Given the description of an element on the screen output the (x, y) to click on. 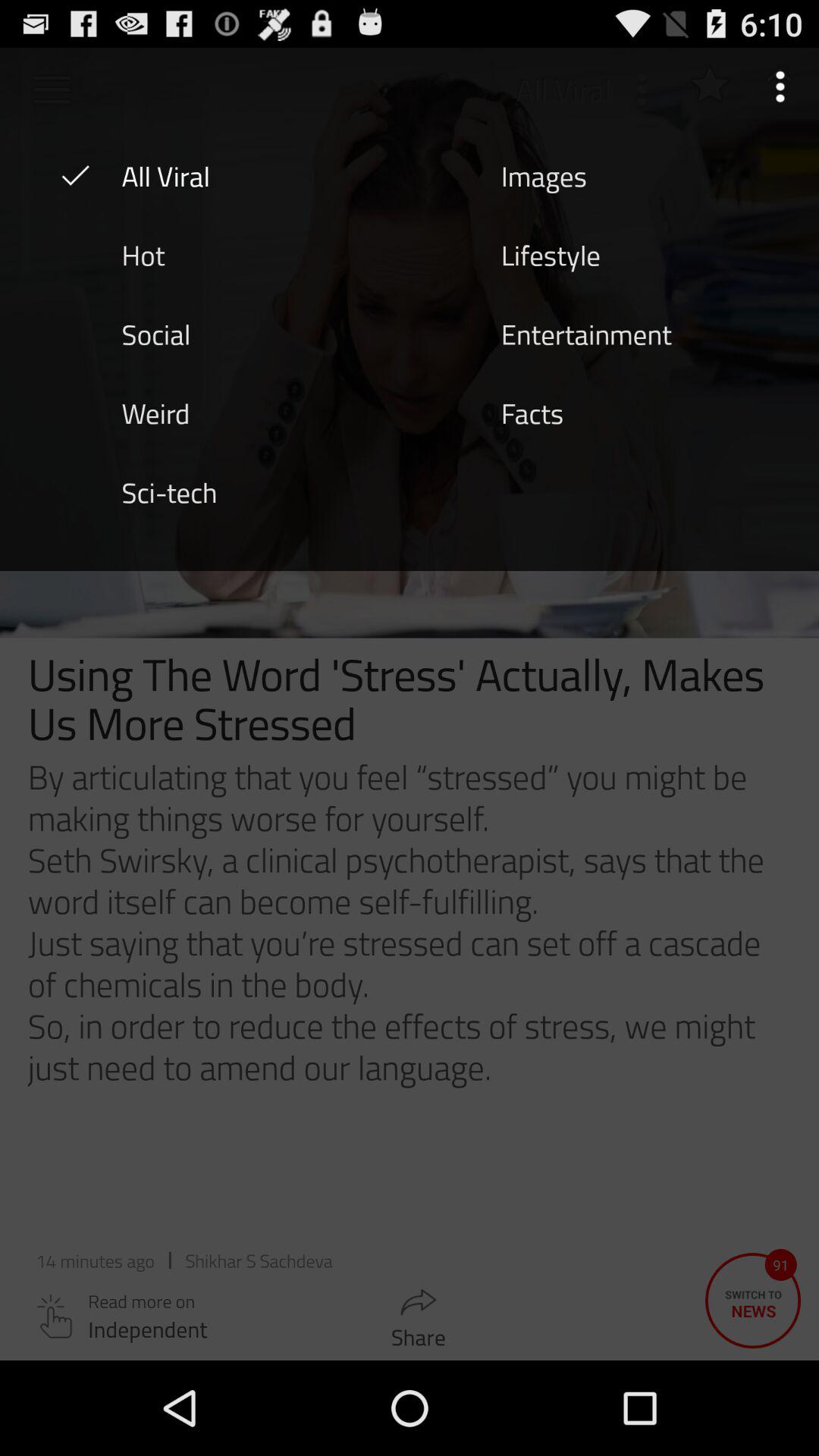
click sci-tech item (169, 490)
